Given the description of an element on the screen output the (x, y) to click on. 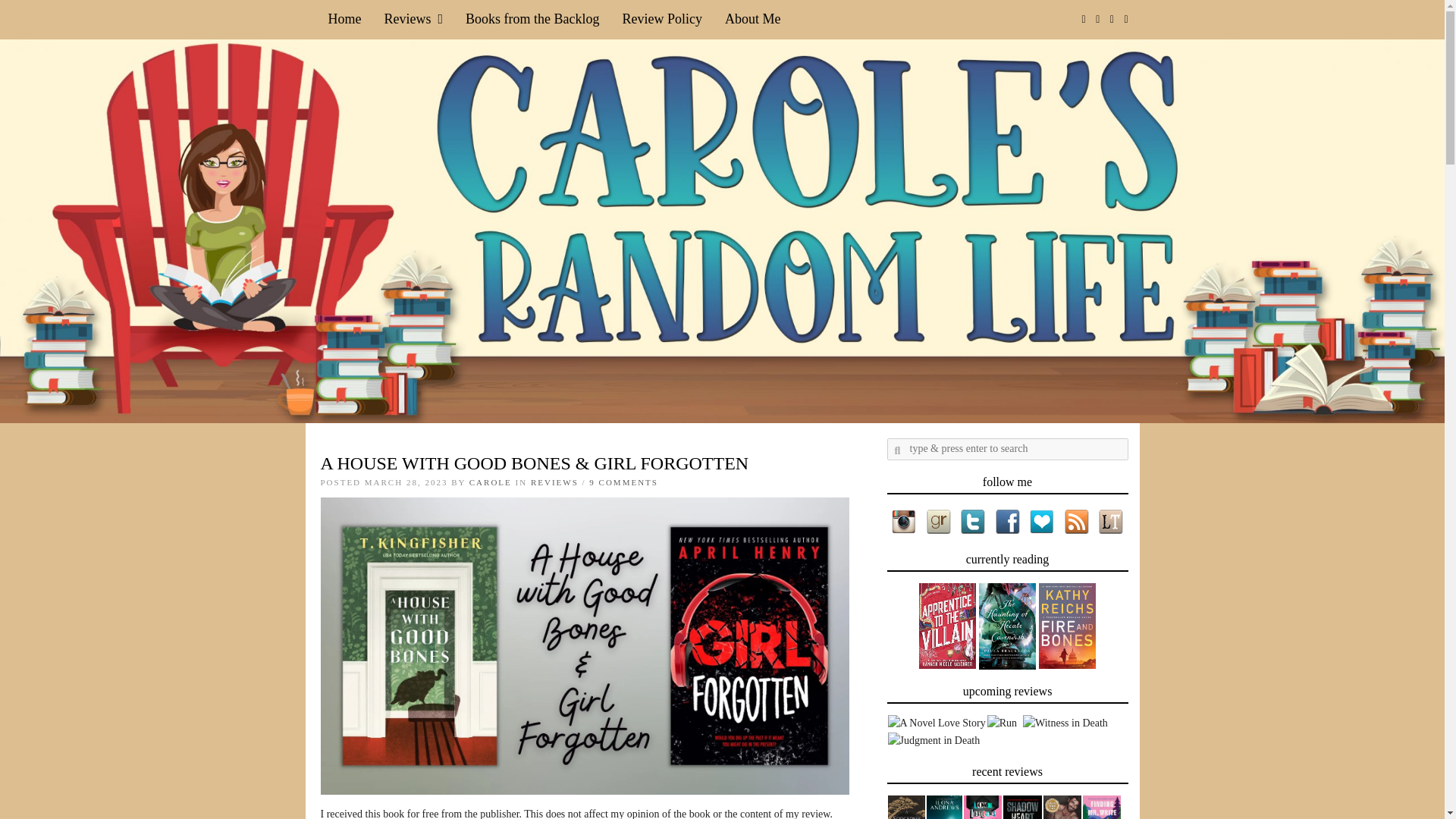
Books from the Backlog (532, 19)
About Me (752, 19)
Home (344, 19)
View all posts in Reviews (554, 481)
9 COMMENTS (623, 481)
Reviews   (413, 19)
CAROLE (490, 481)
REVIEWS (554, 481)
Review Policy (662, 19)
